Given the description of an element on the screen output the (x, y) to click on. 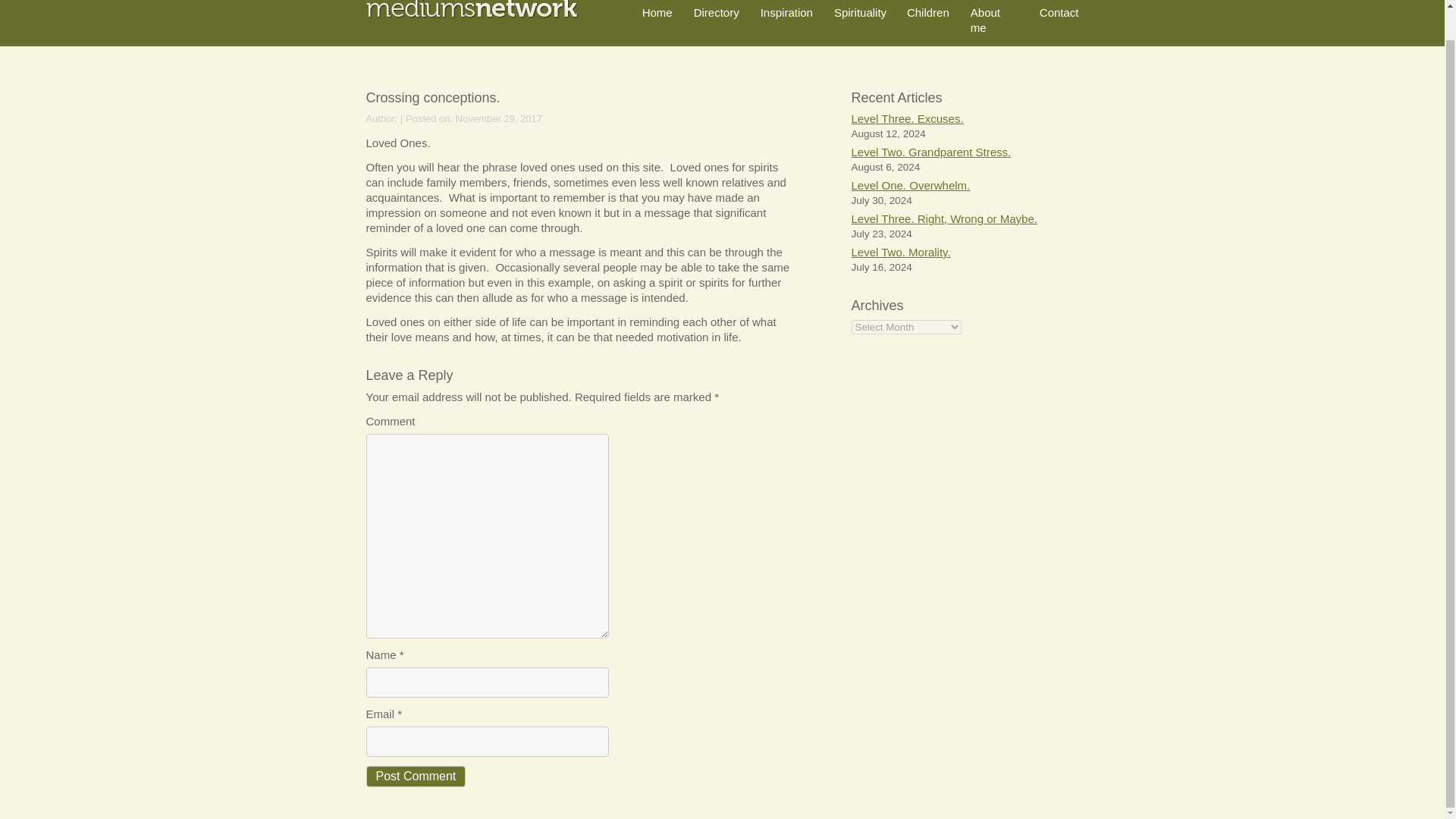
Level Three. Excuses. (906, 118)
Mediums Network (472, 9)
Children (928, 11)
Level Three. Right, Wrong or Maybe. (943, 218)
Post Comment (415, 776)
Contact (1058, 11)
Spirituality (860, 11)
Post Comment (415, 776)
Level Two. Morality. (900, 251)
About me (985, 19)
